Given the description of an element on the screen output the (x, y) to click on. 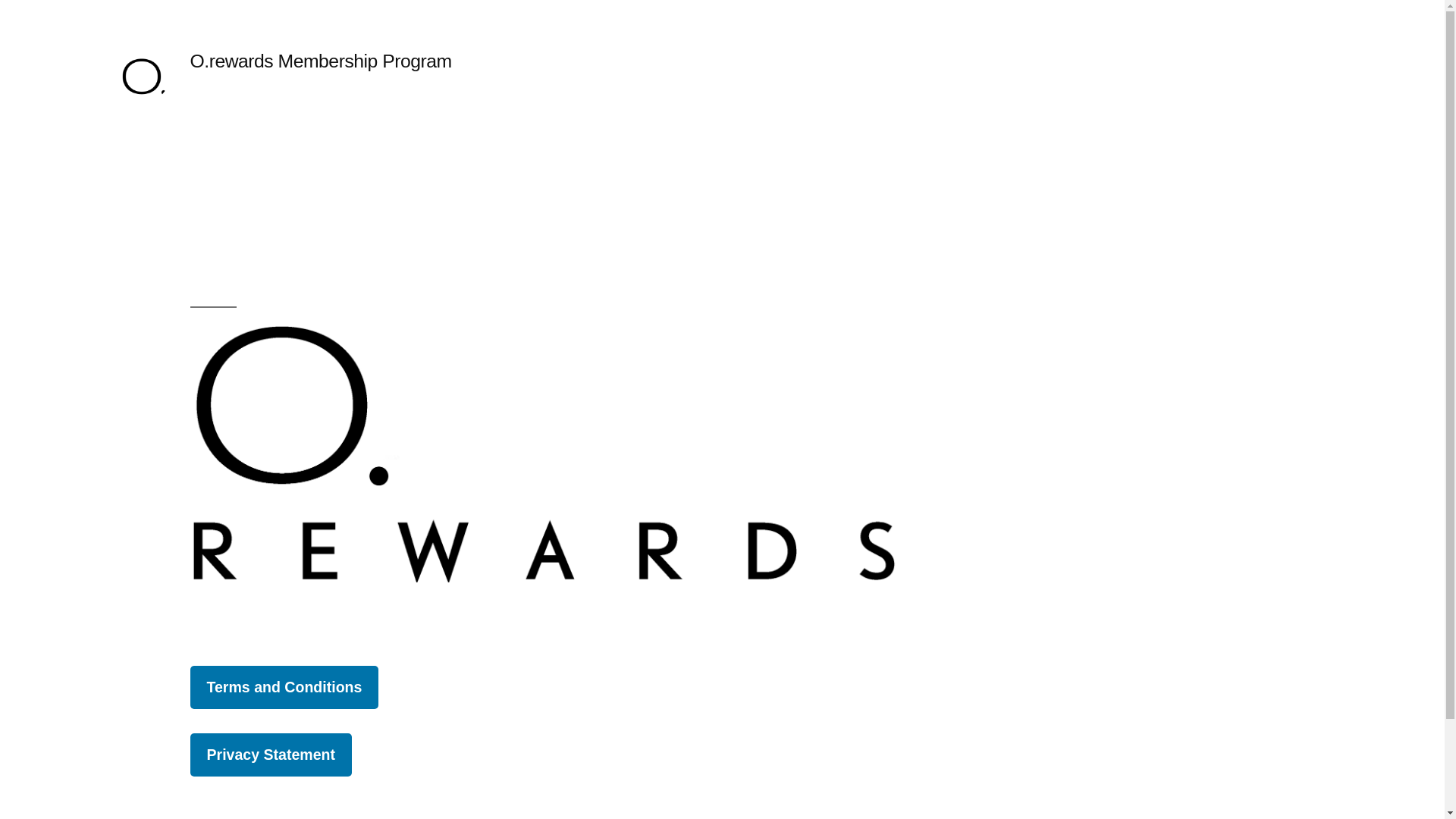
O.rewards Membership Program Element type: text (320, 60)
